Given the description of an element on the screen output the (x, y) to click on. 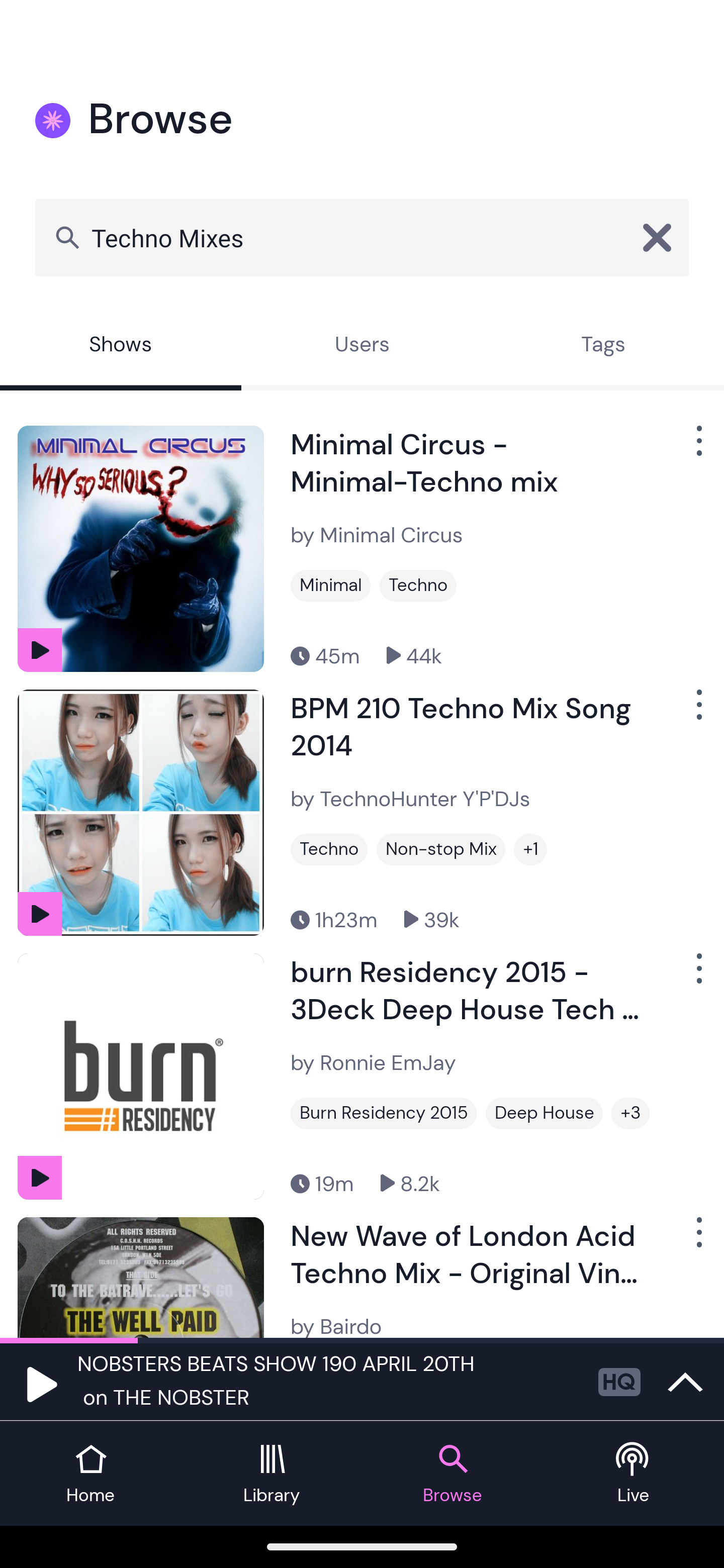
Techno Mixes (361, 237)
Shows (120, 346)
Users (361, 346)
Tags (603, 346)
Show Options Menu Button (697, 447)
Minimal (330, 585)
Techno (417, 585)
Show Options Menu Button (697, 712)
Techno (328, 849)
Non-stop Mix (440, 849)
Show Options Menu Button (697, 975)
Burn Residency 2015 (383, 1112)
Deep House (544, 1112)
Show Options Menu Button (697, 1239)
Home tab Home (90, 1473)
Library tab Library (271, 1473)
Browse tab Browse (452, 1473)
Live tab Live (633, 1473)
